Given the description of an element on the screen output the (x, y) to click on. 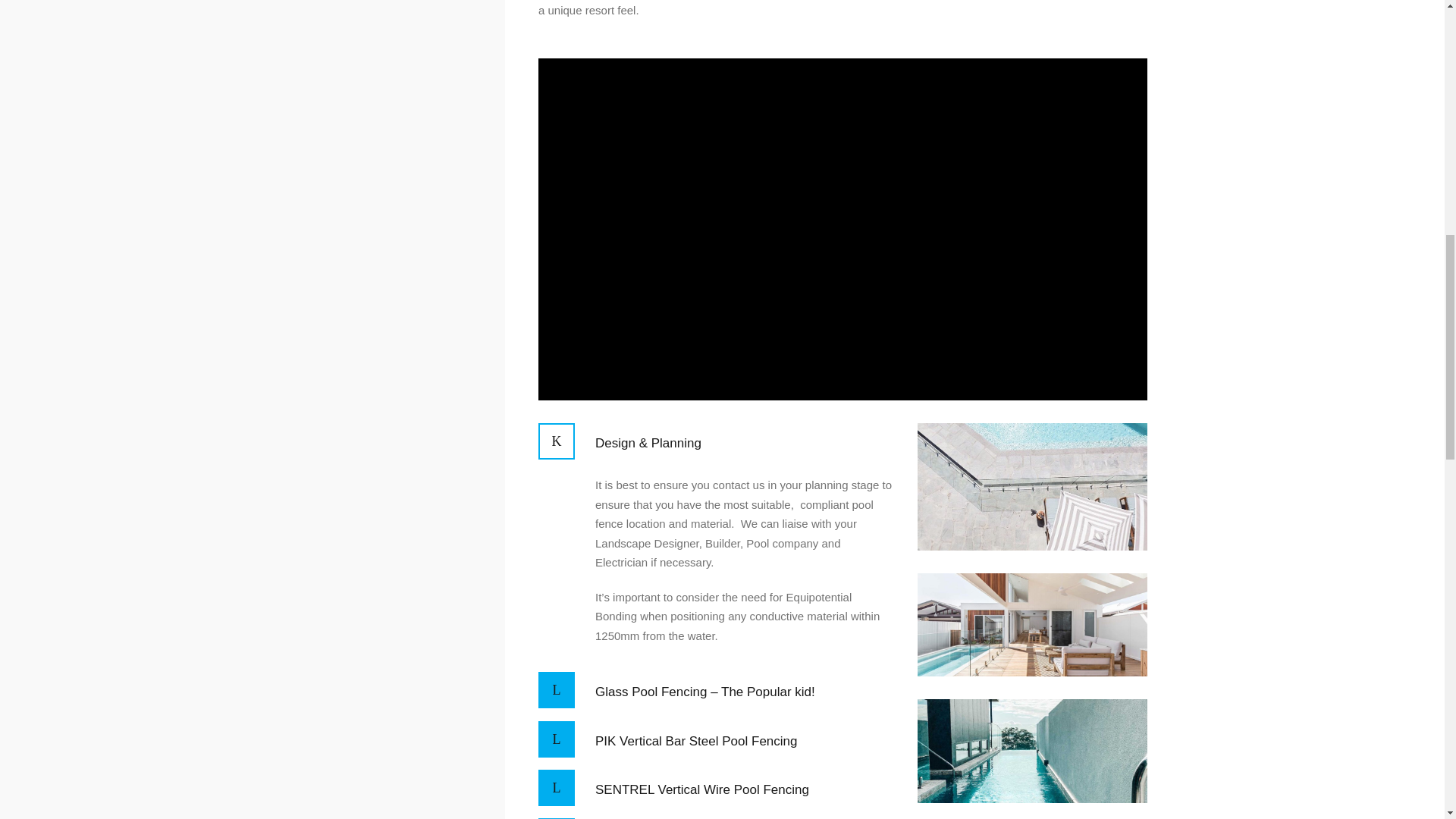
hotel pool fencing (1032, 486)
lap pool fencing (1032, 751)
pool-fencing (1032, 625)
